Given the description of an element on the screen output the (x, y) to click on. 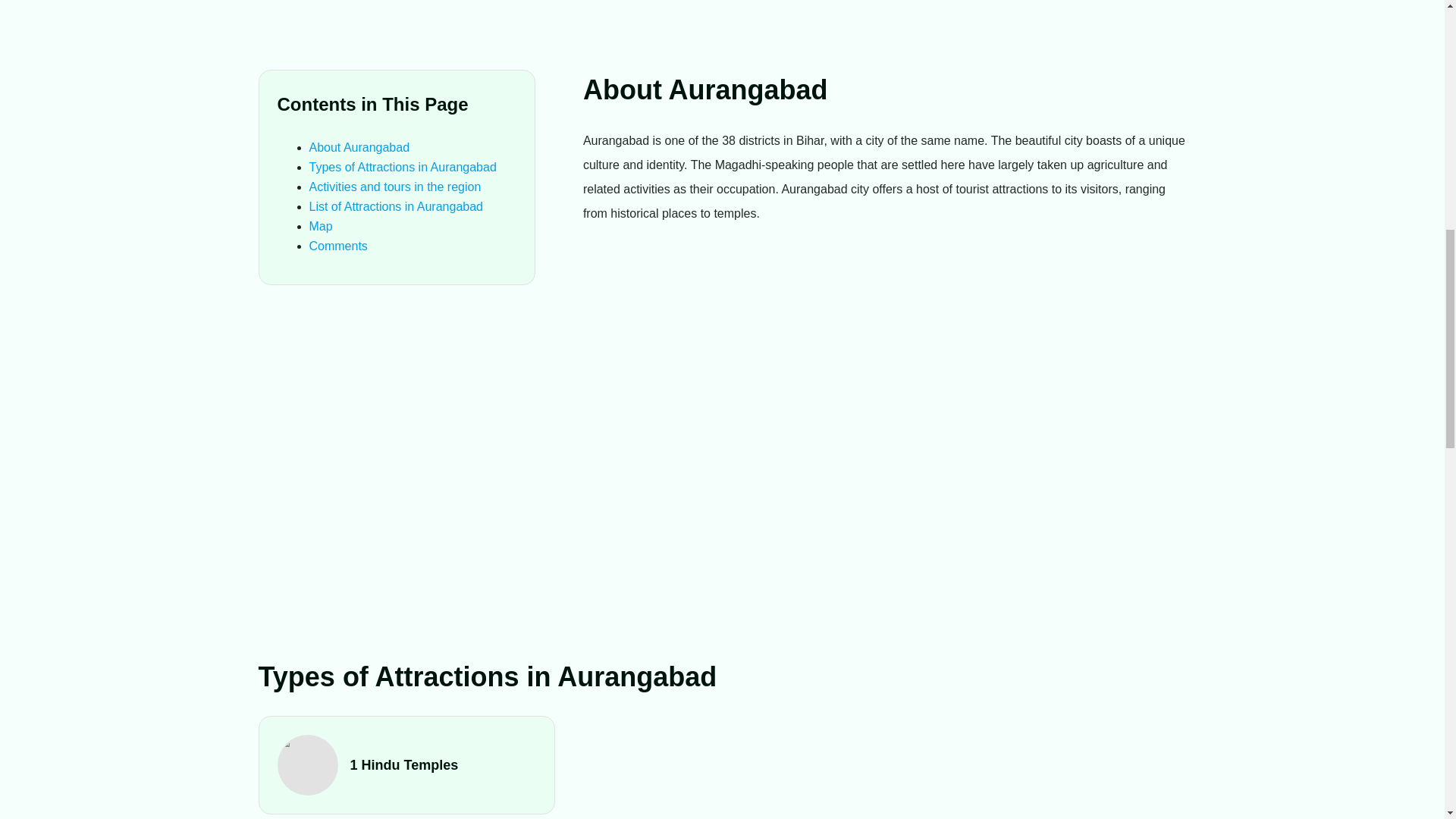
About Aurangabad (359, 146)
List of Attractions in Aurangabad (395, 205)
Activities and tours in the region (394, 186)
Types of Attractions in Aurangabad (402, 166)
1 Hindu Temples (407, 764)
Comments (338, 245)
Map (320, 226)
